Given the description of an element on the screen output the (x, y) to click on. 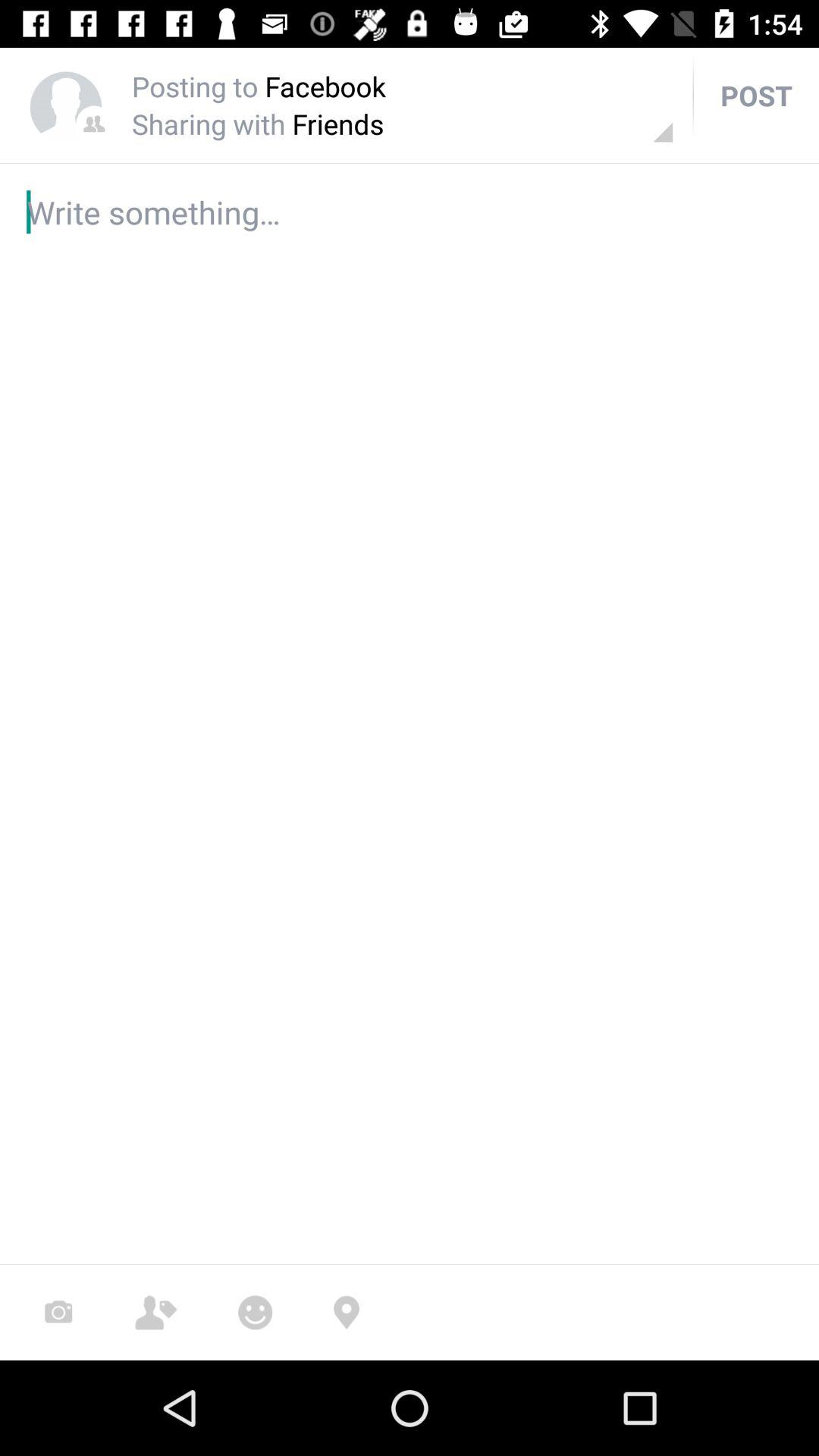
jump until post icon (756, 95)
